Given the description of an element on the screen output the (x, y) to click on. 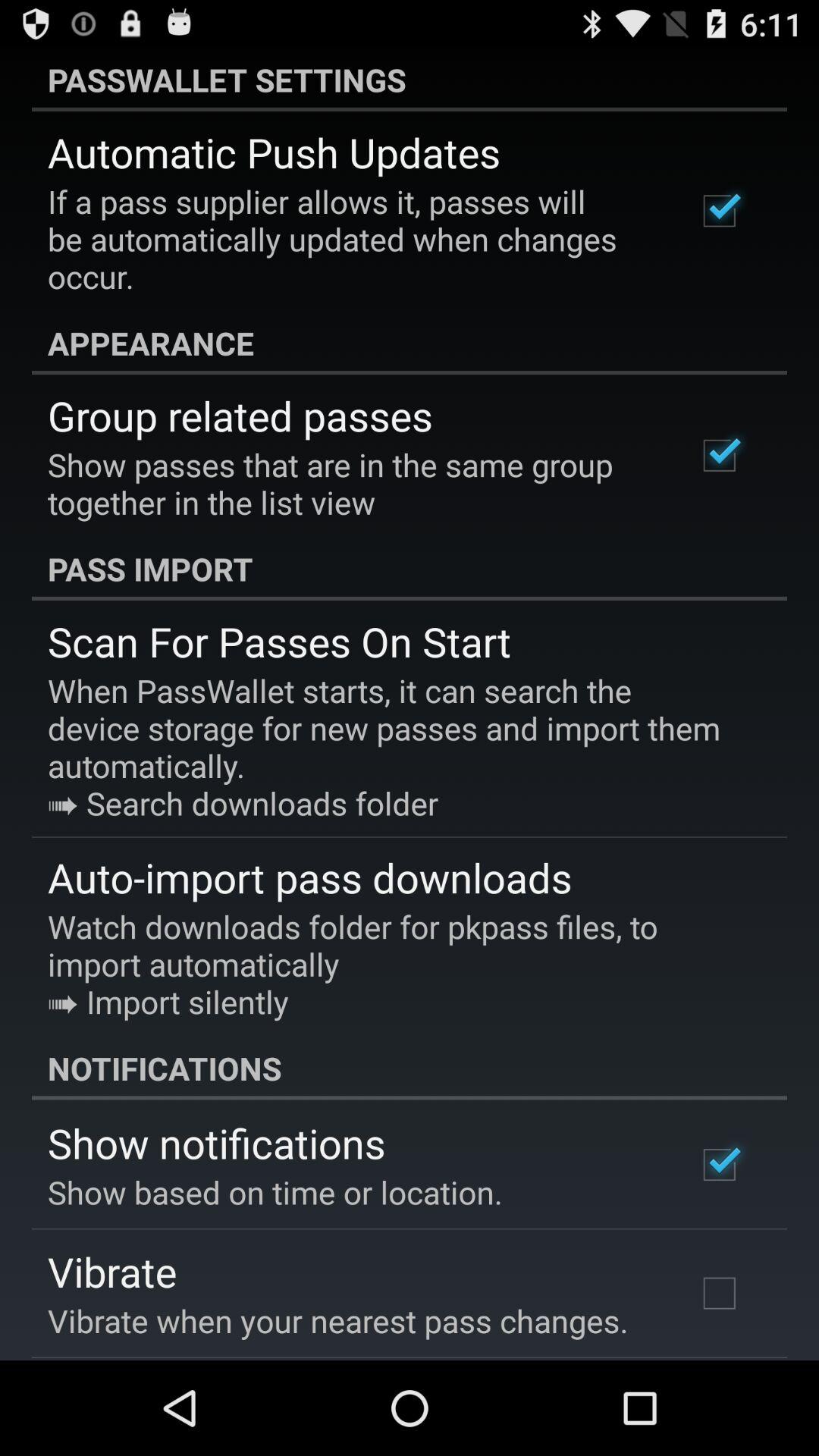
choose the icon below the if a pass icon (409, 342)
